Given the description of an element on the screen output the (x, y) to click on. 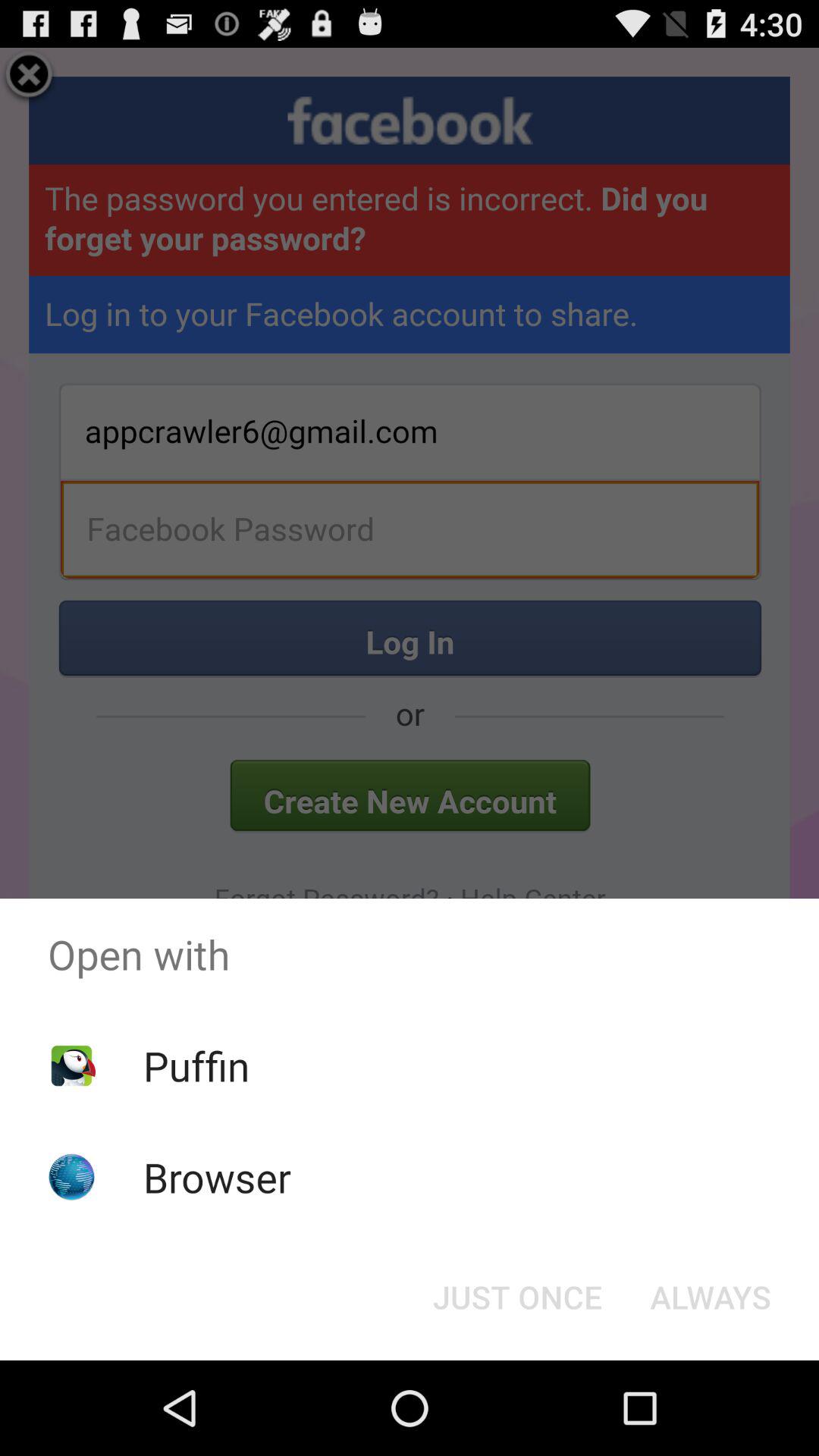
turn on puffin (196, 1065)
